Given the description of an element on the screen output the (x, y) to click on. 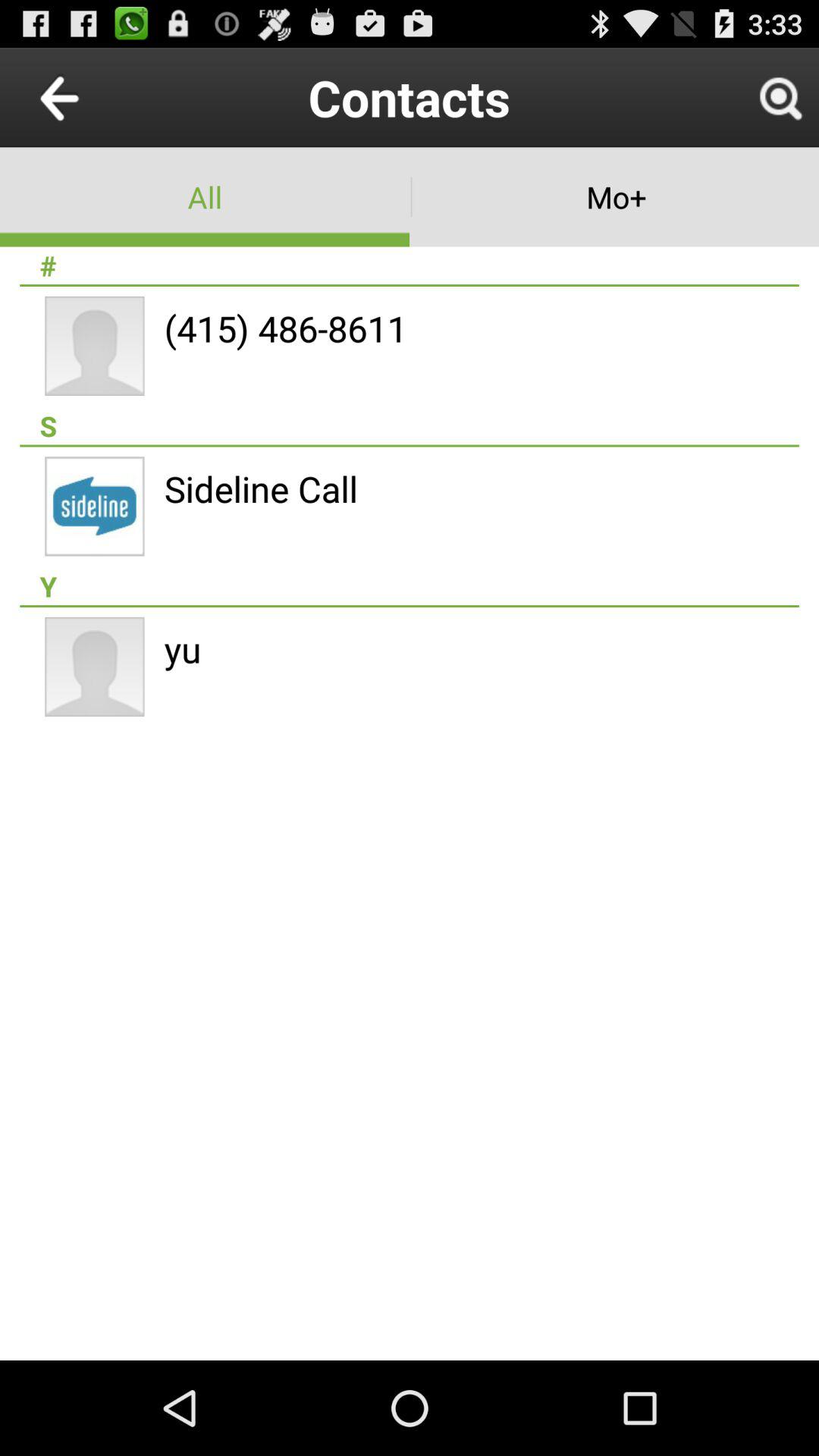
jump until the y icon (409, 586)
